Given the description of an element on the screen output the (x, y) to click on. 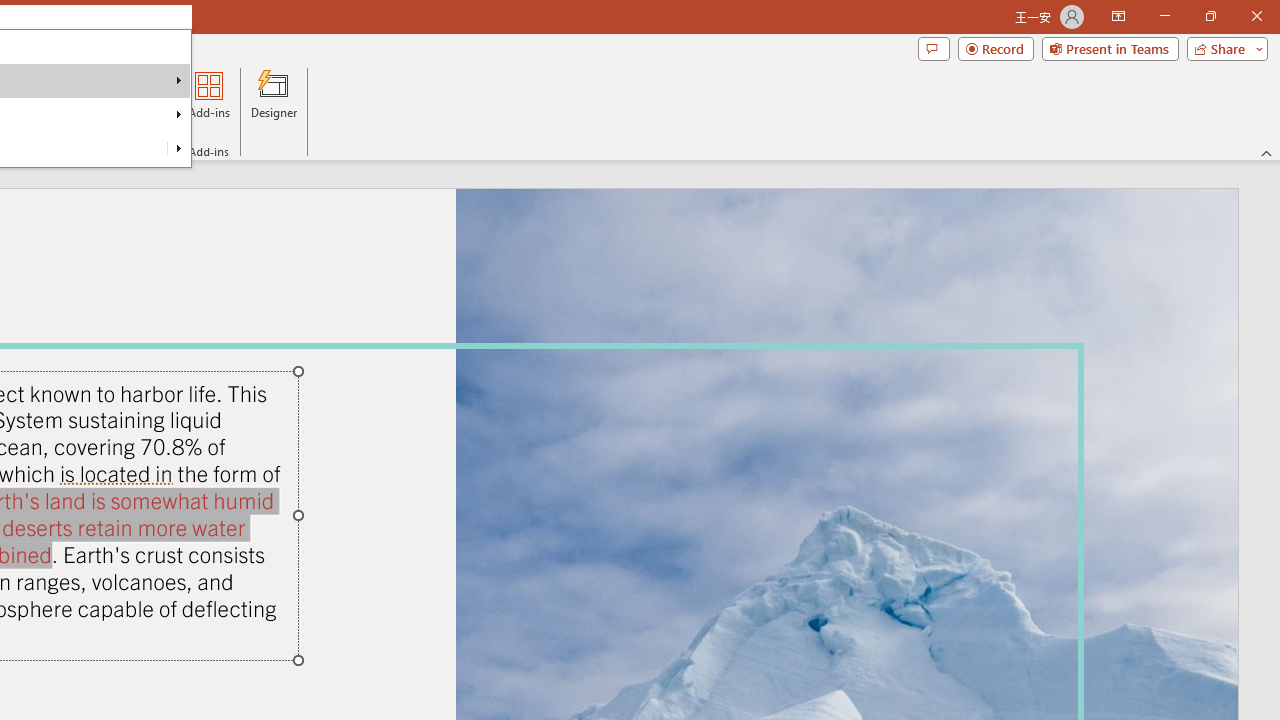
Text Outline (178, 148)
